Given the description of an element on the screen output the (x, y) to click on. 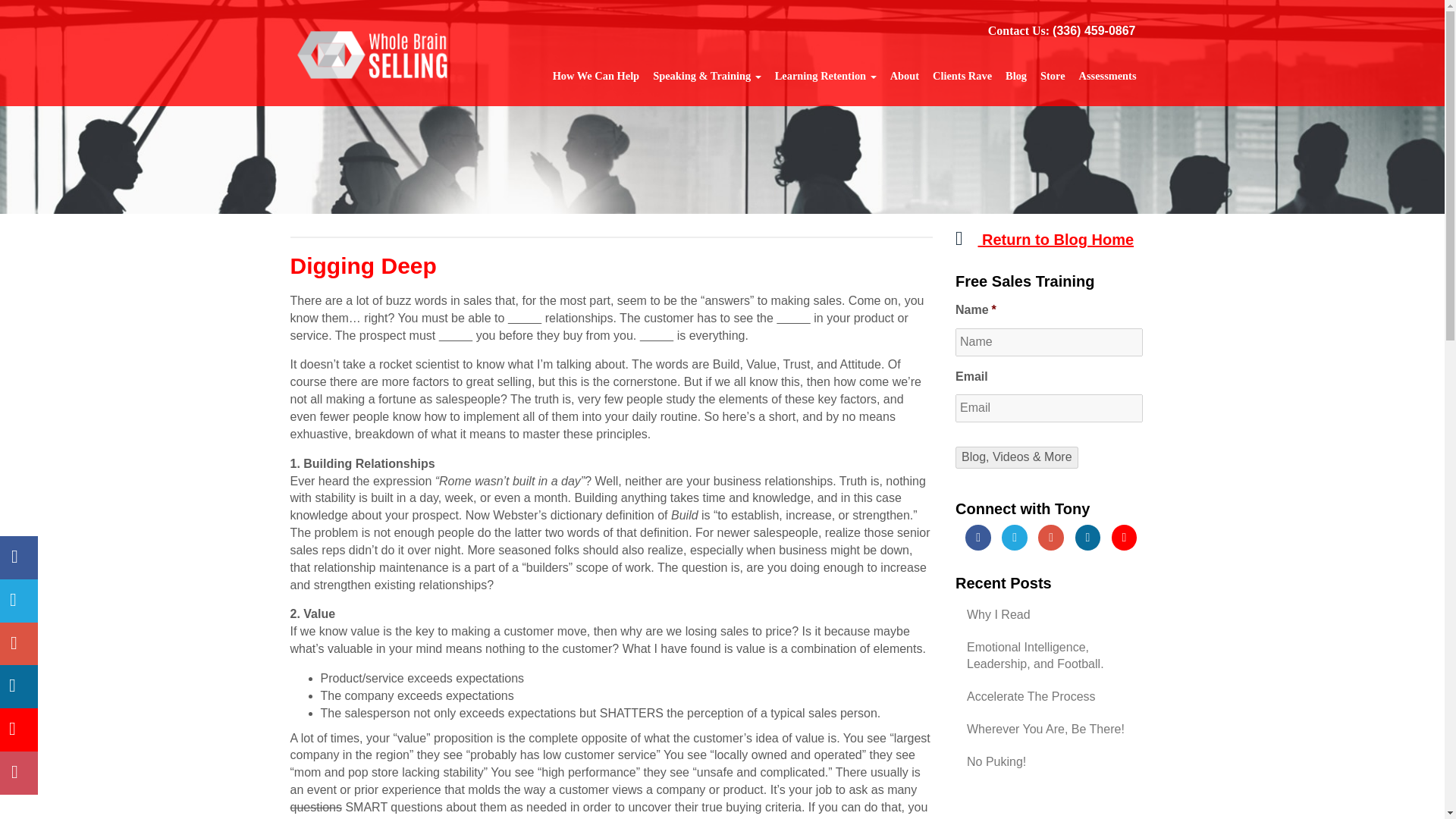
Why I Read (1054, 614)
Assessments (1106, 75)
Store (1052, 75)
How We Can Help (596, 75)
Return to Blog Home (1044, 239)
Learning Retention (825, 75)
About (904, 75)
Accelerate The Process (1054, 696)
Blog (1015, 75)
Clients Rave (962, 75)
Leone inside logo (375, 53)
Contact Us: (1018, 30)
Emotional Intelligence, Leadership, and Football. (1054, 655)
